Given the description of an element on the screen output the (x, y) to click on. 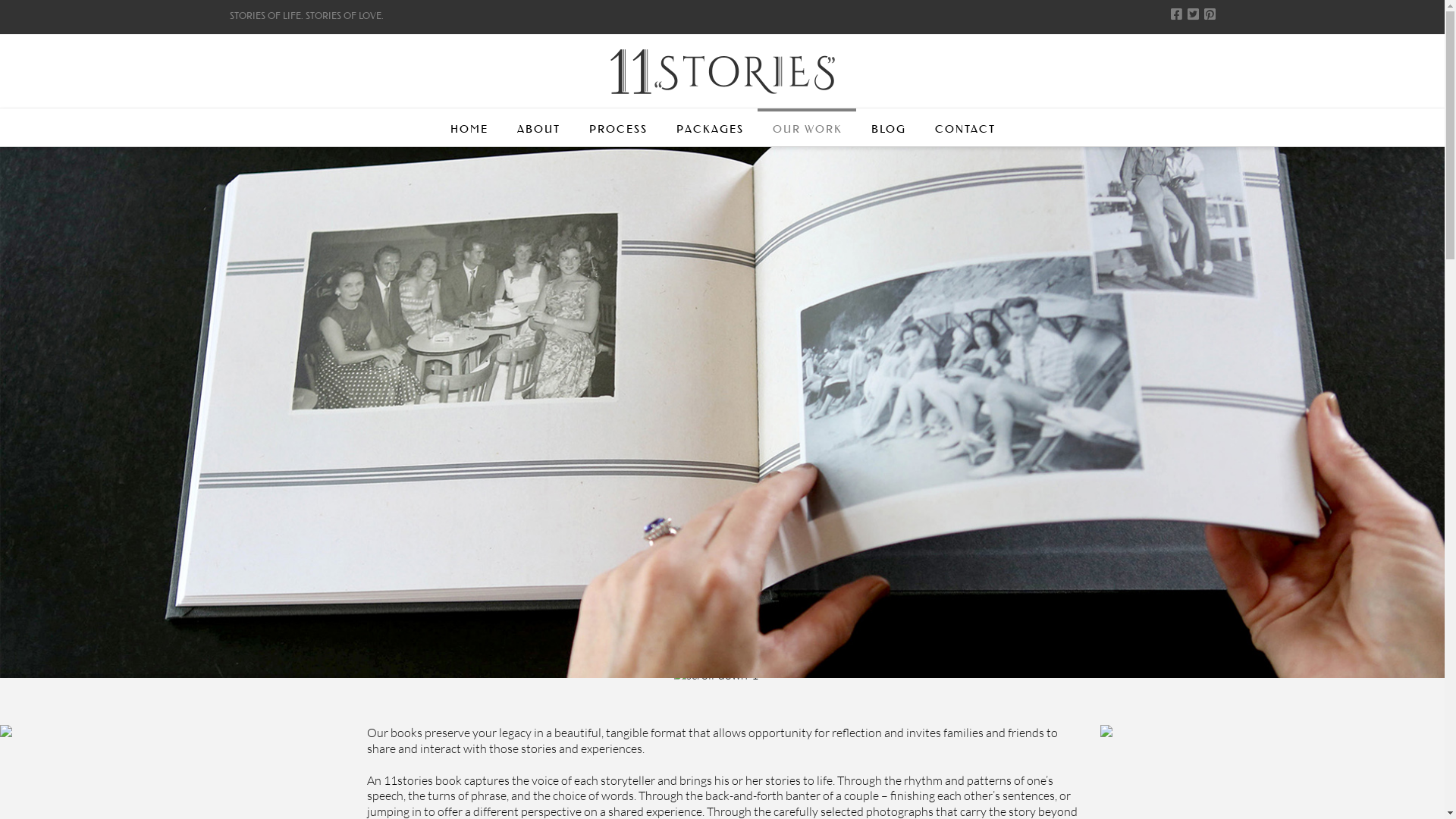
HOME Element type: text (468, 127)
Twitter Element type: hover (1192, 13)
OUR WORK Element type: text (806, 127)
CONTACT Element type: text (964, 127)
PACKAGES Element type: text (709, 127)
Pinterest Element type: hover (1209, 13)
Facebook Element type: hover (1176, 13)
BLOG Element type: text (887, 127)
PROCESS Element type: text (617, 127)
ABOUT Element type: text (538, 127)
